Given the description of an element on the screen output the (x, y) to click on. 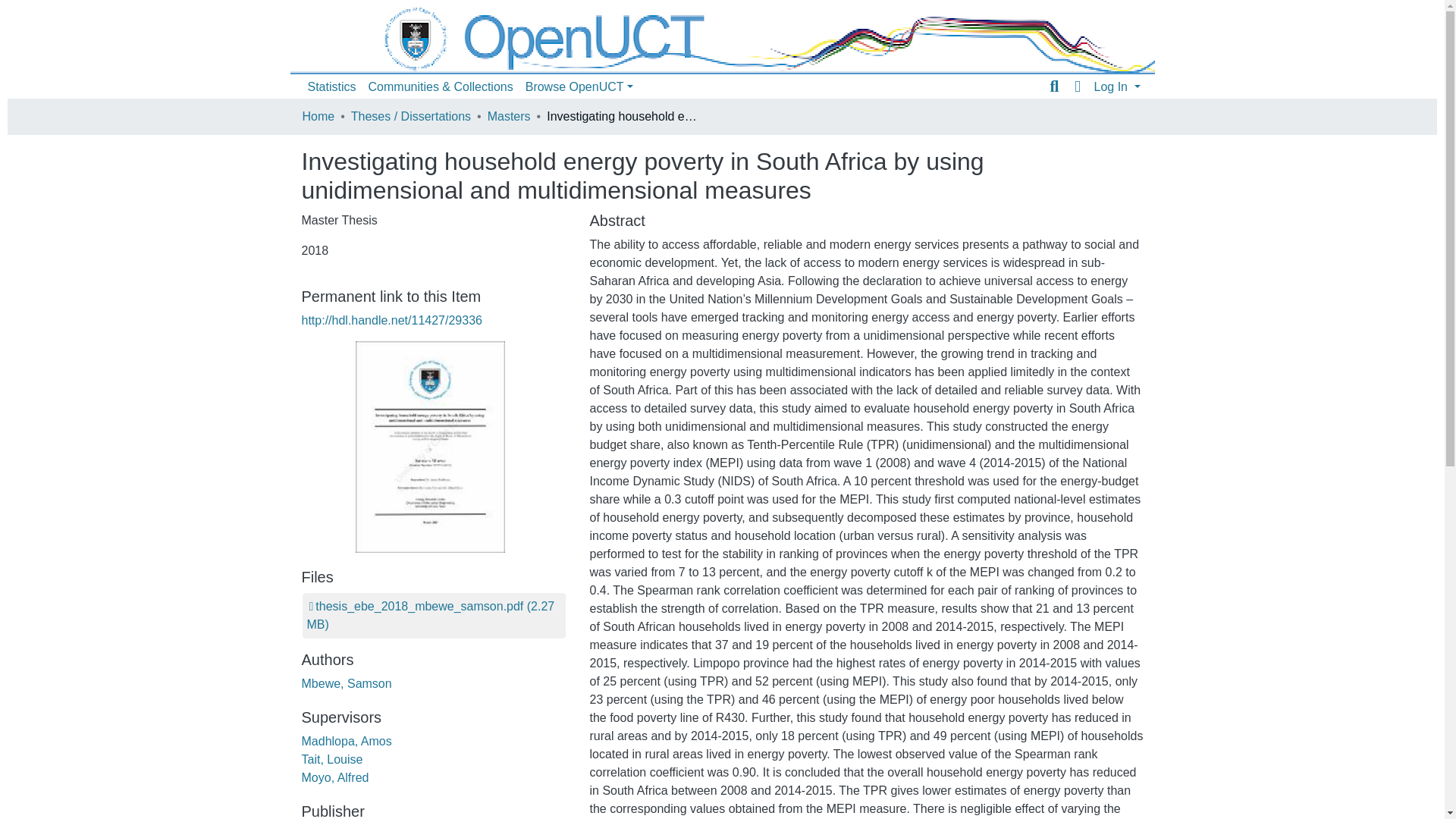
Mbewe, Samson (346, 683)
Statistics (331, 87)
Home (317, 116)
Masters (509, 116)
Browse OpenUCT (579, 87)
Log In (1116, 86)
Madhlopa, Amos (346, 740)
Search (1053, 86)
Language switch (1077, 86)
Statistics (331, 87)
Moyo, Alfred (335, 777)
Tait, Louise (331, 758)
